Given the description of an element on the screen output the (x, y) to click on. 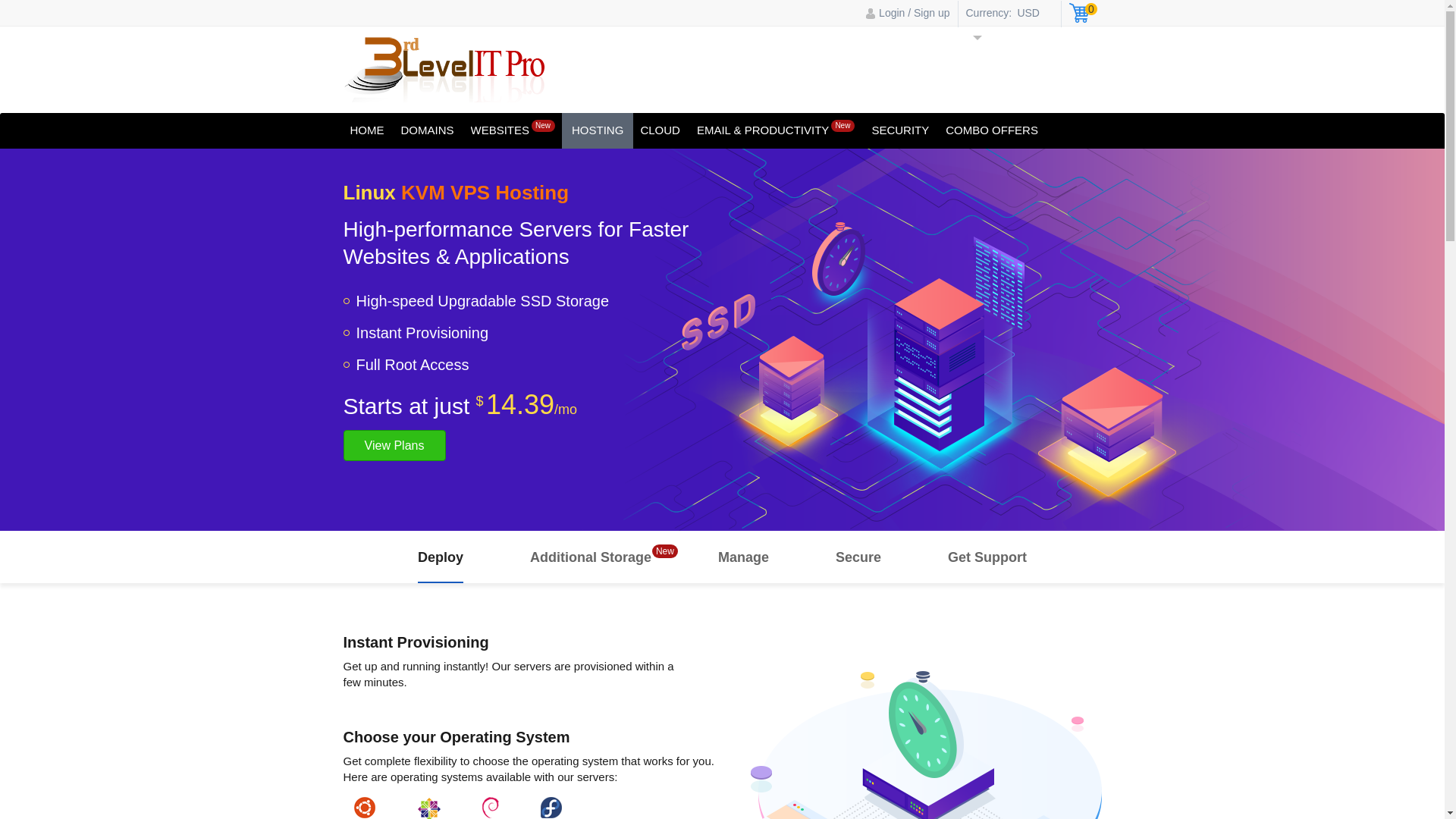
WEBSITESNew Element type: text (512, 130)
Deploy Element type: text (440, 556)
Manage Element type: text (743, 556)
COMBO OFFERS Element type: text (991, 130)
HOSTING Element type: text (597, 130)
Secure Element type: text (858, 556)
EMAIL & PRODUCTIVITYNew Element type: text (775, 130)
HOME Element type: text (367, 130)
SECURITY Element type: text (899, 130)
Additional Storage Element type: text (590, 556)
CLOUD Element type: text (660, 130)
View Plans Element type: text (393, 445)
Get Support Element type: text (986, 556)
Login / Sign up Element type: text (907, 12)
DOMAINS Element type: text (426, 130)
0 Element type: text (1082, 15)
